Given the description of an element on the screen output the (x, y) to click on. 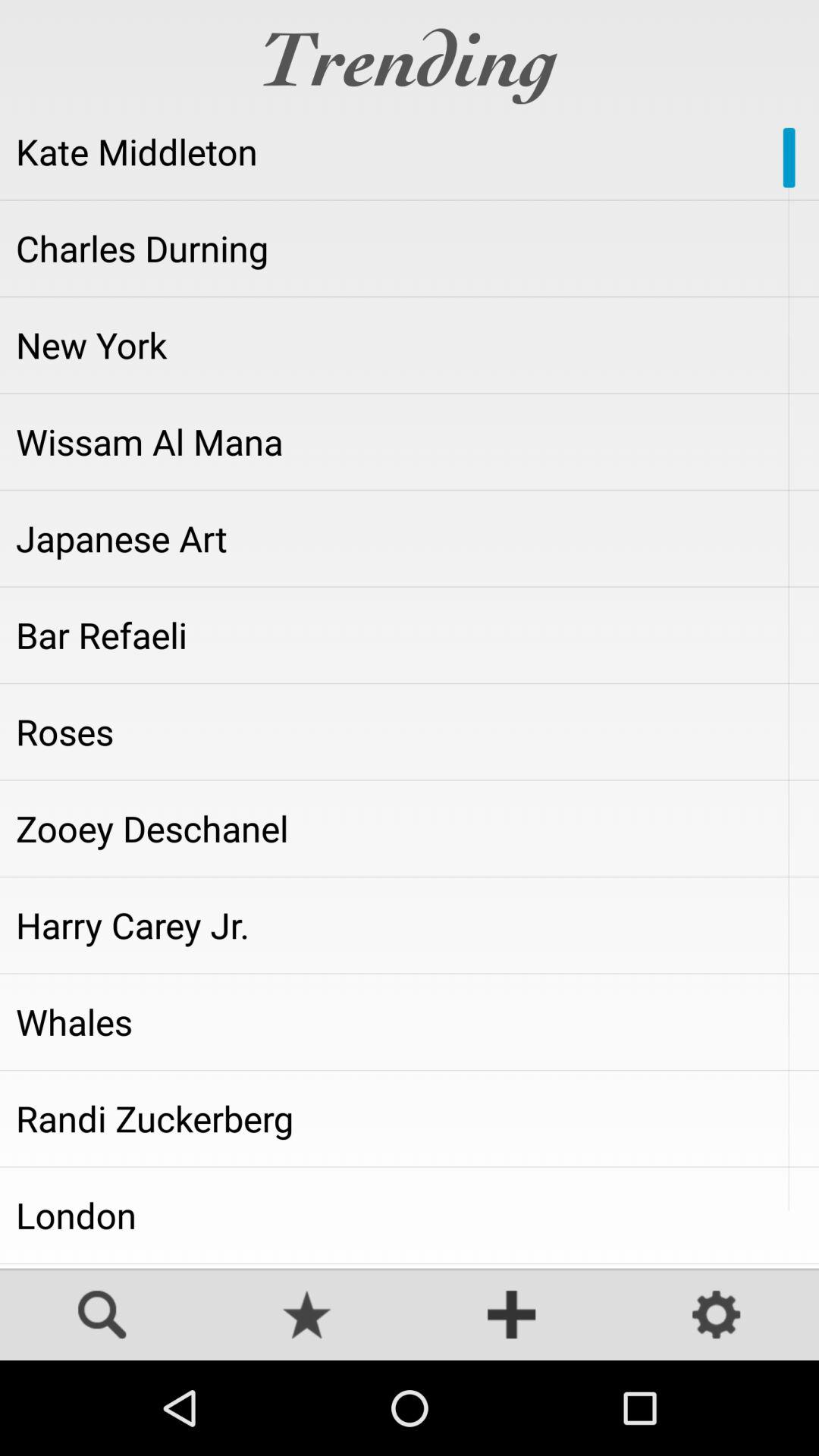
choose icon above the charles durning icon (409, 151)
